Given the description of an element on the screen output the (x, y) to click on. 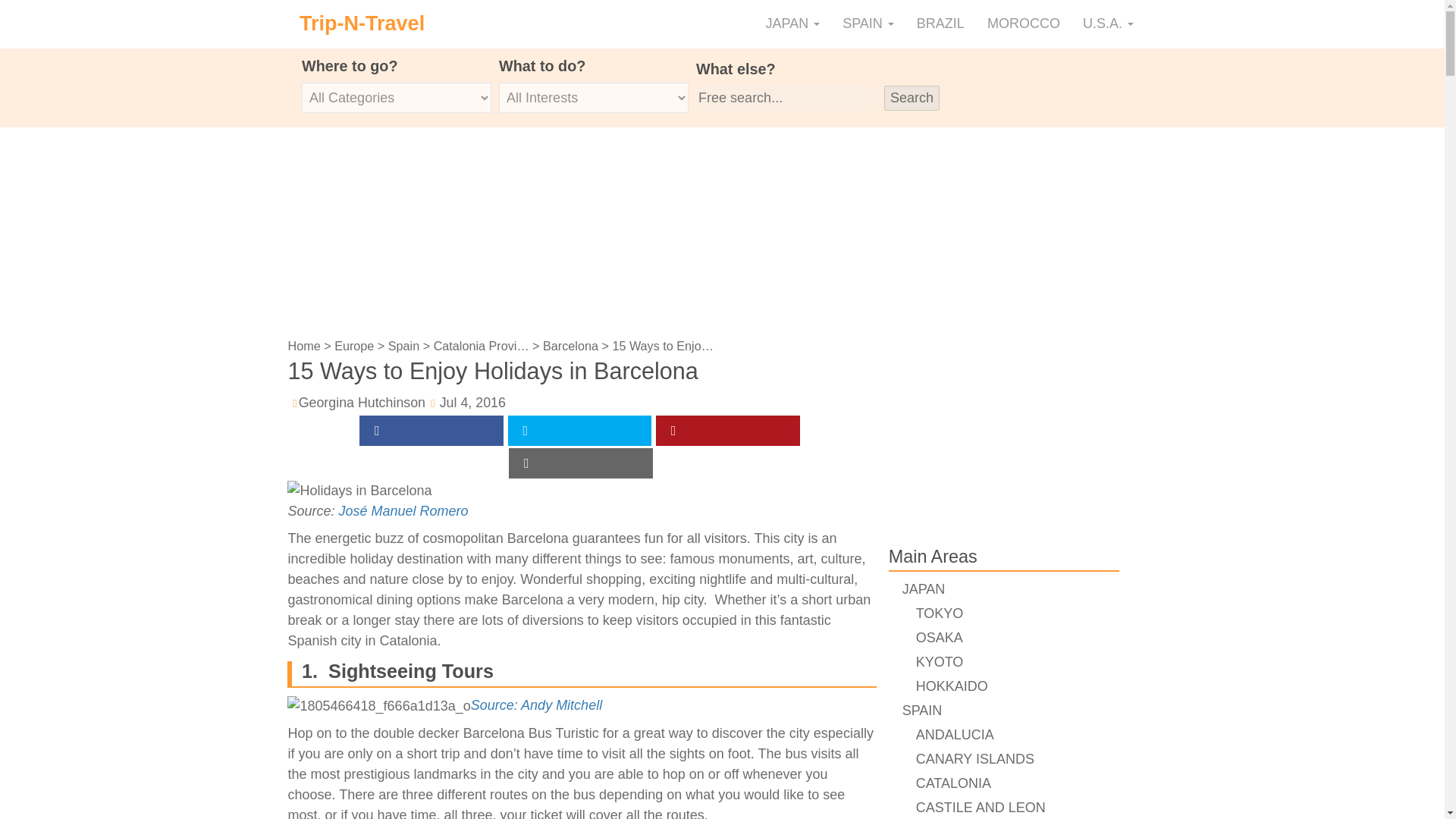
Barcelona (570, 345)
Source: Andy Mitchell (536, 704)
JAPAN (792, 24)
Europe (354, 345)
Home (303, 345)
BRAZIL (940, 24)
SPAIN (868, 24)
JAPAN (792, 24)
U.S.A. (1107, 24)
SPAIN (868, 24)
